Given the description of an element on the screen output the (x, y) to click on. 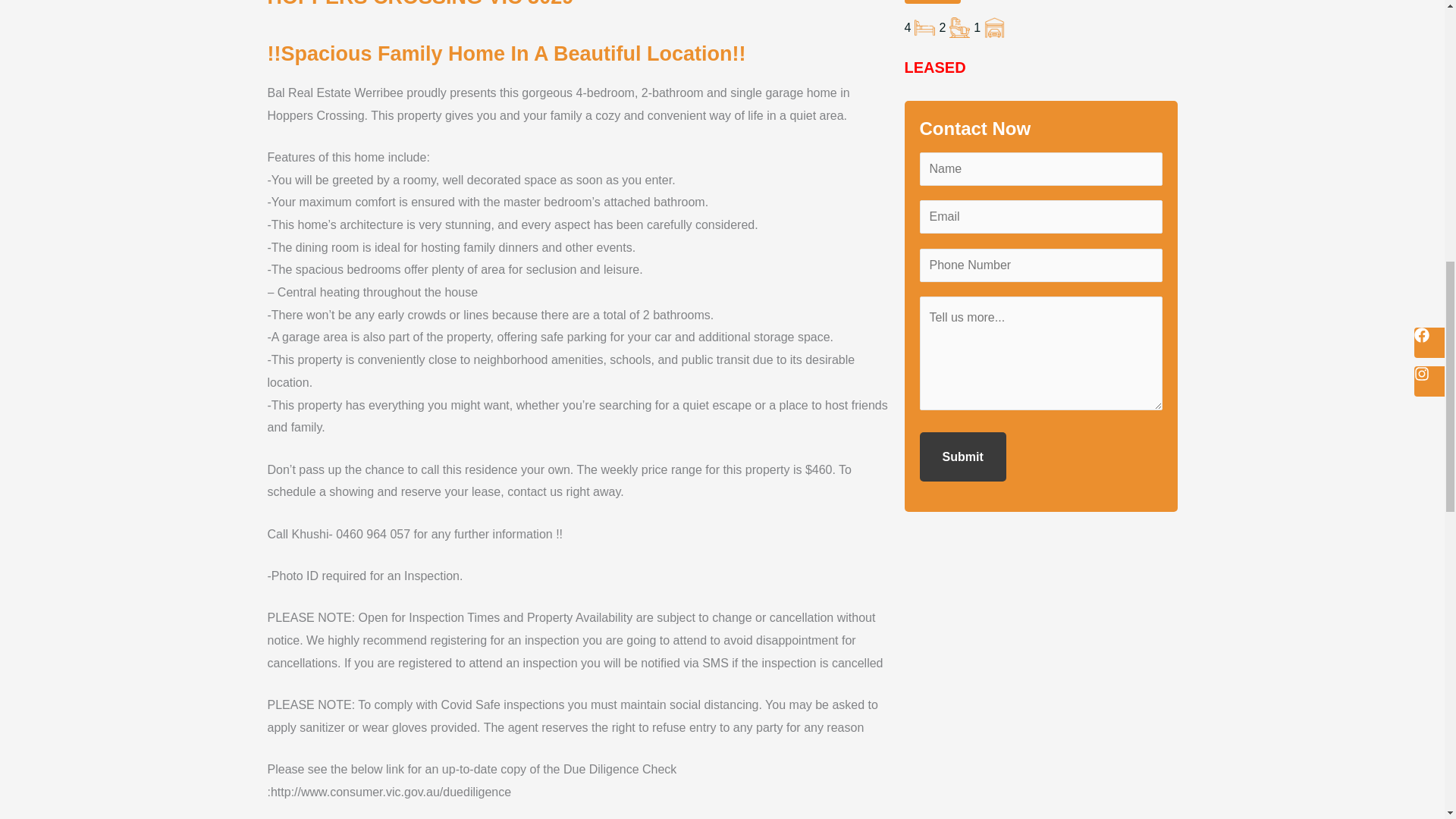
Submit (962, 457)
Submit (962, 457)
